Given the description of an element on the screen output the (x, y) to click on. 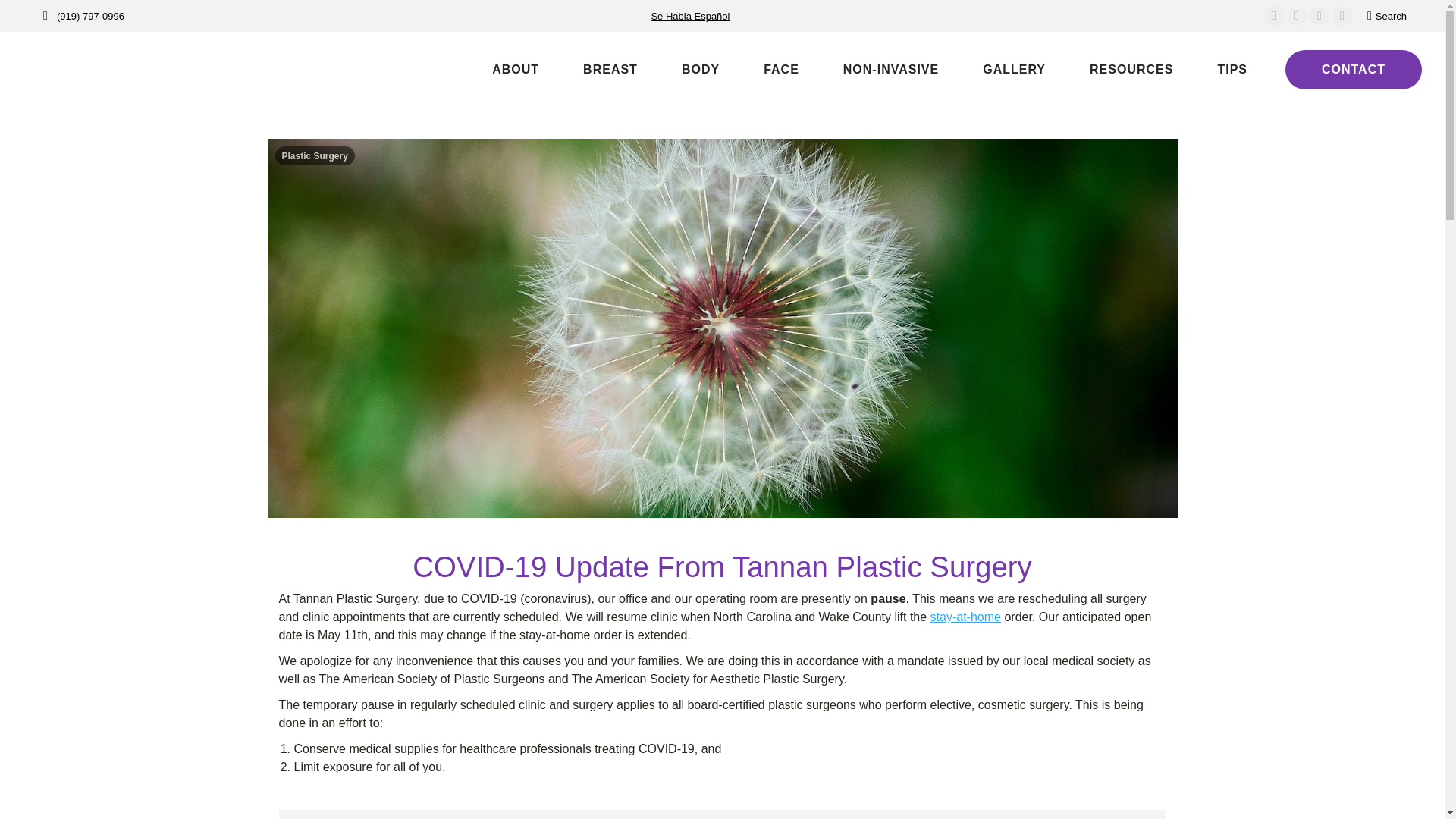
BREAST (596, 69)
Facebook page opens in new window (1273, 15)
TikTok page opens in new window (1342, 15)
TikTok page opens in new window (1342, 15)
RESOURCES (1116, 69)
YouTube page opens in new window (1318, 15)
ABOUT (501, 69)
CONTACT (1353, 69)
NON-INVASIVE (876, 69)
Search (1386, 16)
GALLERY (999, 69)
Instagram page opens in new window (1296, 15)
Go! (24, 16)
Instagram page opens in new window (1296, 15)
FACE (766, 69)
